Given the description of an element on the screen output the (x, y) to click on. 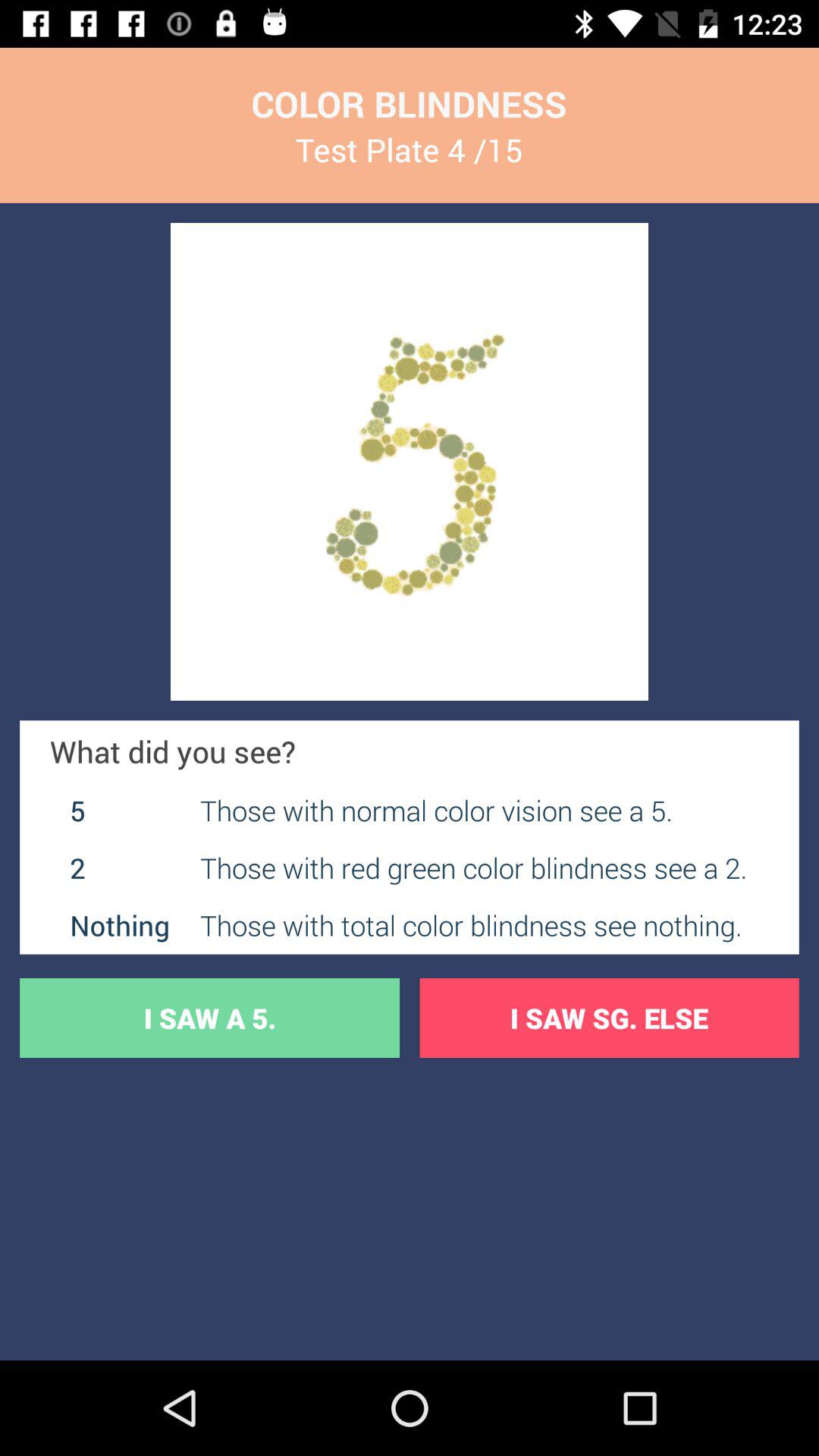
shows the number 5 (409, 461)
